Given the description of an element on the screen output the (x, y) to click on. 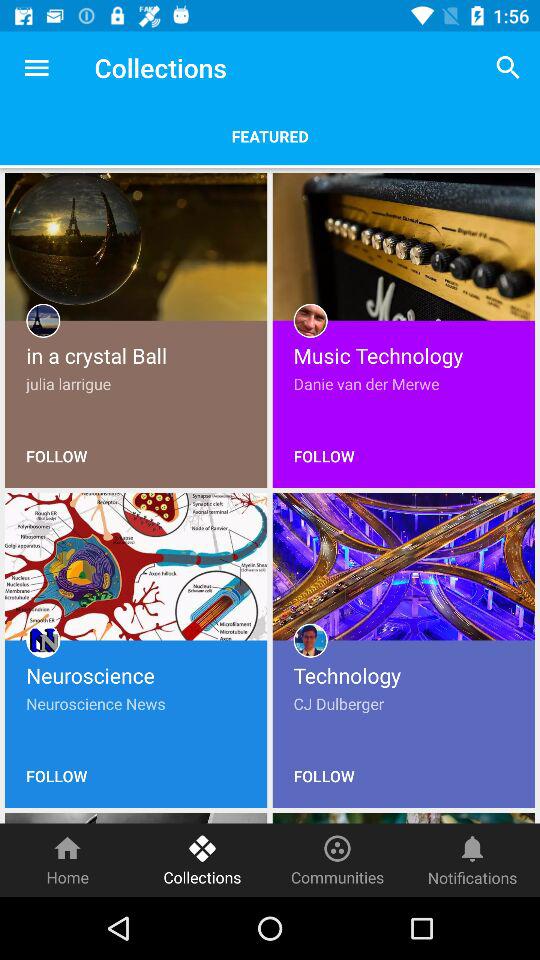
turn on communities (337, 859)
